Given the description of an element on the screen output the (x, y) to click on. 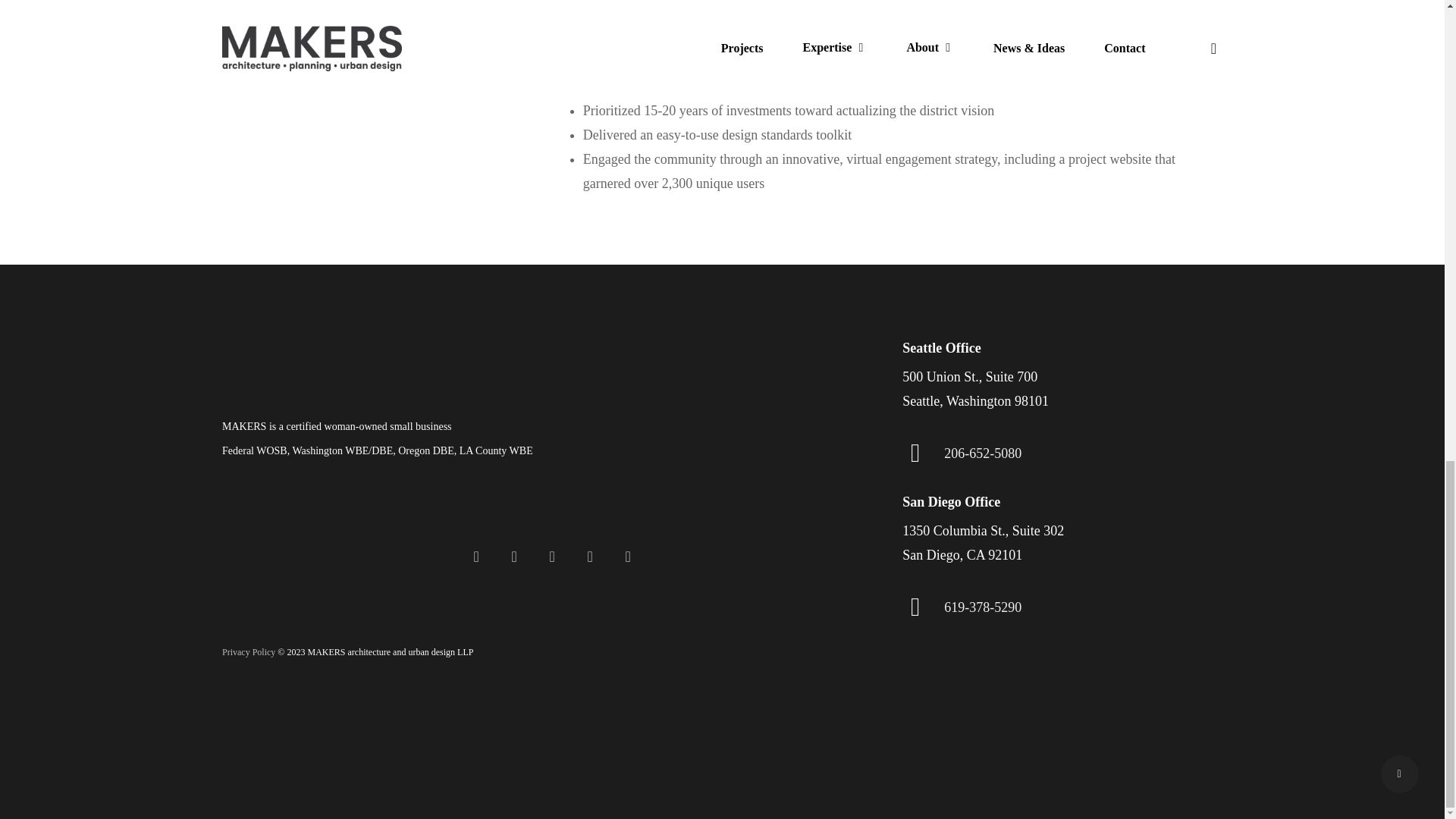
facebook (475, 555)
206-652-5080 (982, 453)
youtube (551, 555)
Privacy Policy (248, 652)
linkedin (513, 555)
619-378-5290 (982, 607)
instagram (589, 555)
email (627, 555)
xing (722, 772)
